Given the description of an element on the screen output the (x, y) to click on. 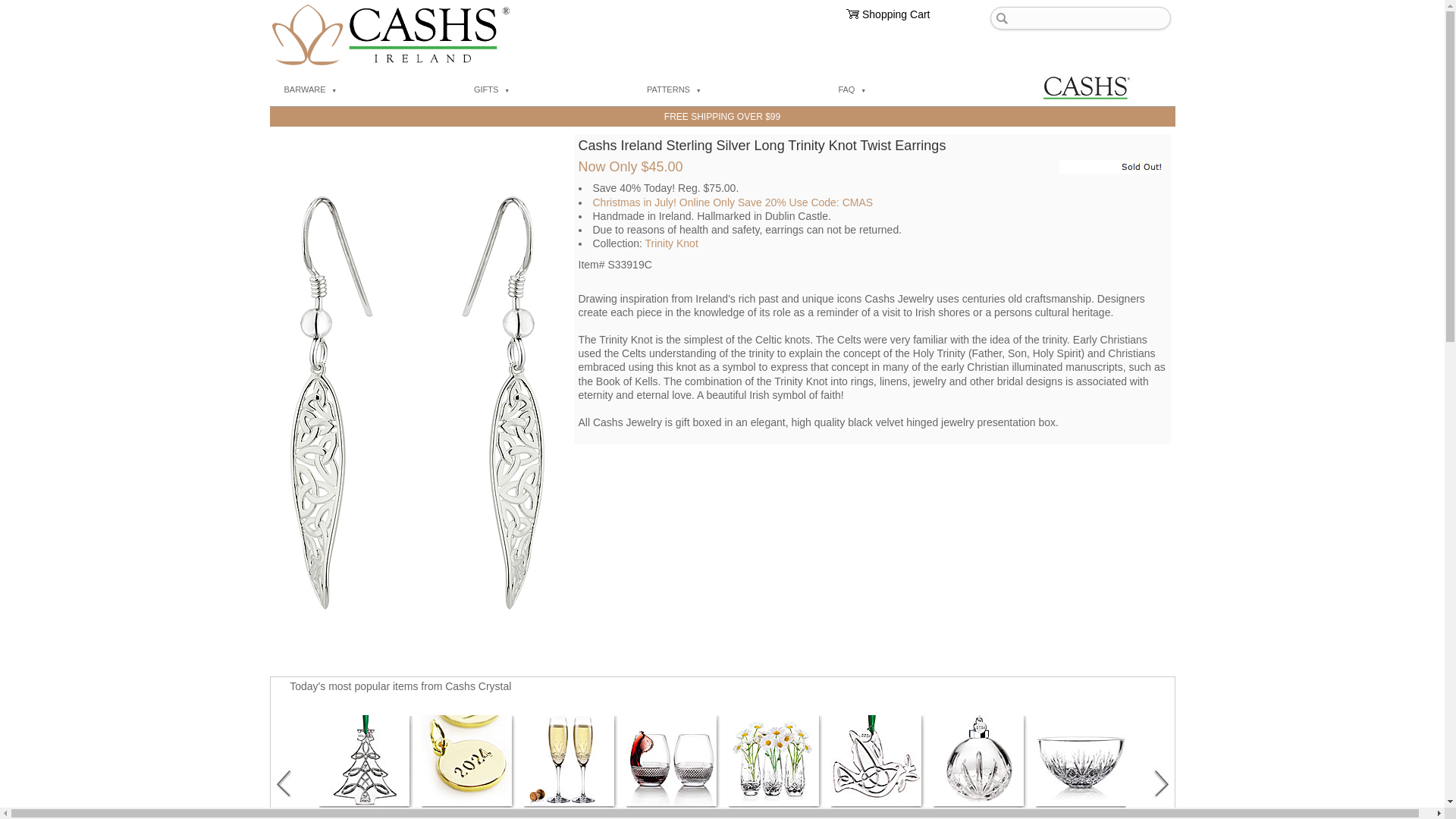
PATTERNS (730, 90)
BARWARE (365, 90)
Shopping Cart (895, 14)
FAQ (908, 90)
GIFTS (547, 90)
